Given the description of an element on the screen output the (x, y) to click on. 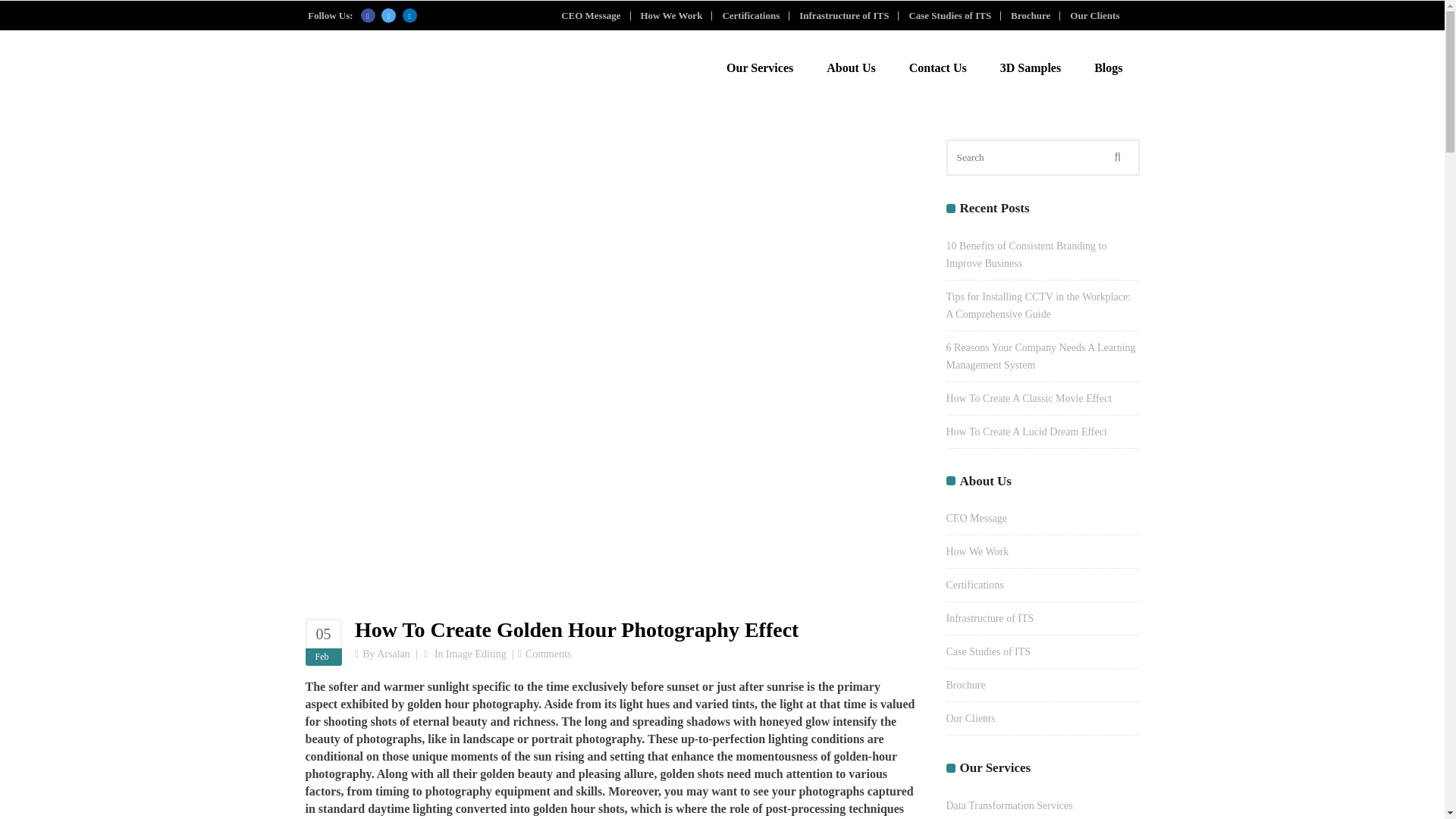
Infrastructure of ITS (848, 15)
How We Work (675, 15)
Our Services (759, 68)
Brochure (1034, 15)
Case Studies of ITS (954, 15)
Certifications (755, 15)
CEO Message (595, 15)
Our Clients (1099, 15)
